Given the description of an element on the screen output the (x, y) to click on. 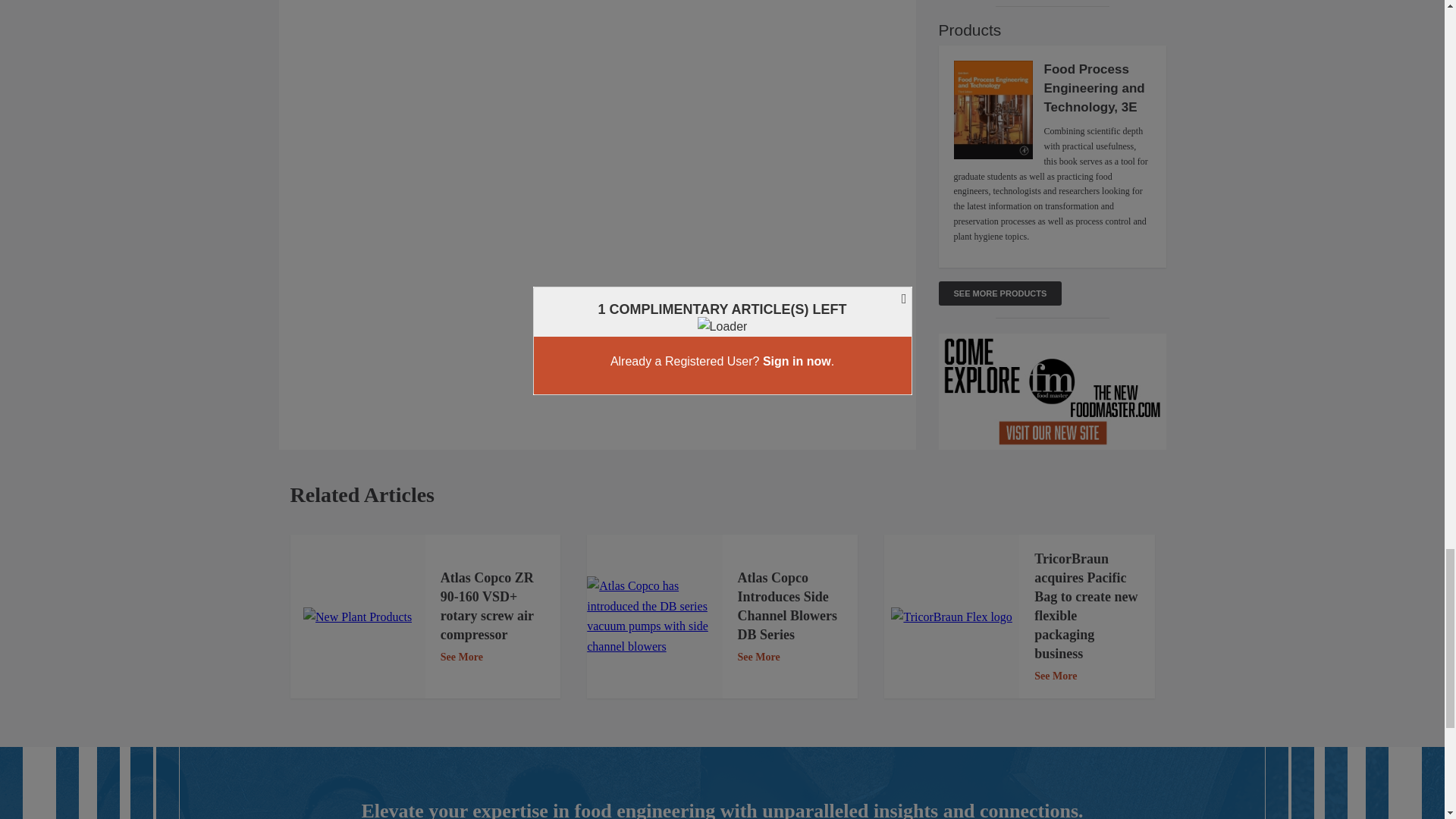
Atlas Copco 1170x658.jpg (654, 616)
New Plant Products (357, 617)
TricorBraun-Flex-Logo.jpeg (951, 617)
